Given the description of an element on the screen output the (x, y) to click on. 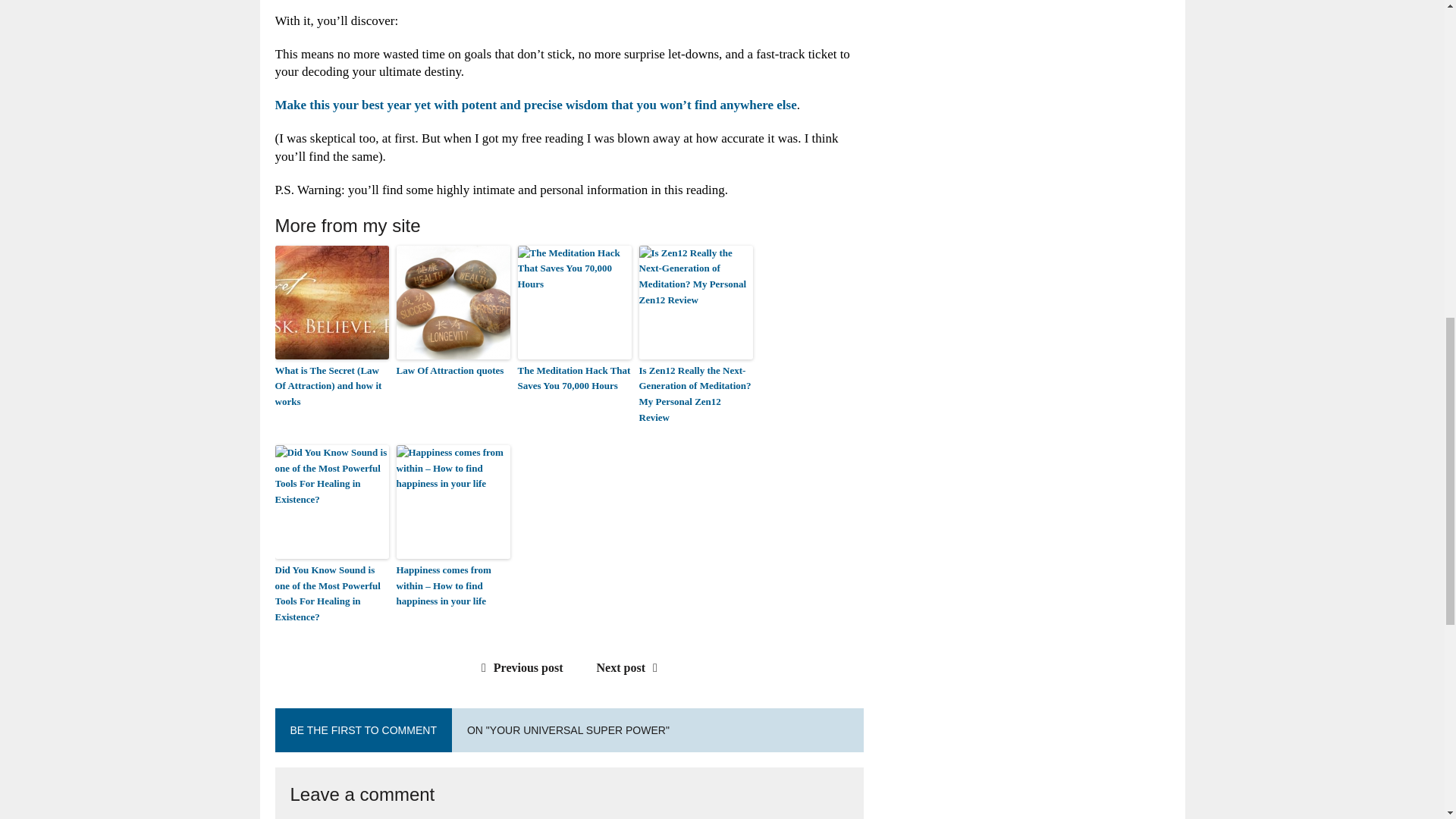
Previous post (518, 667)
Law Of Attraction quotes (452, 371)
The Meditation Hack That Saves You 70,000 Hours (573, 378)
Next post (630, 667)
